Given the description of an element on the screen output the (x, y) to click on. 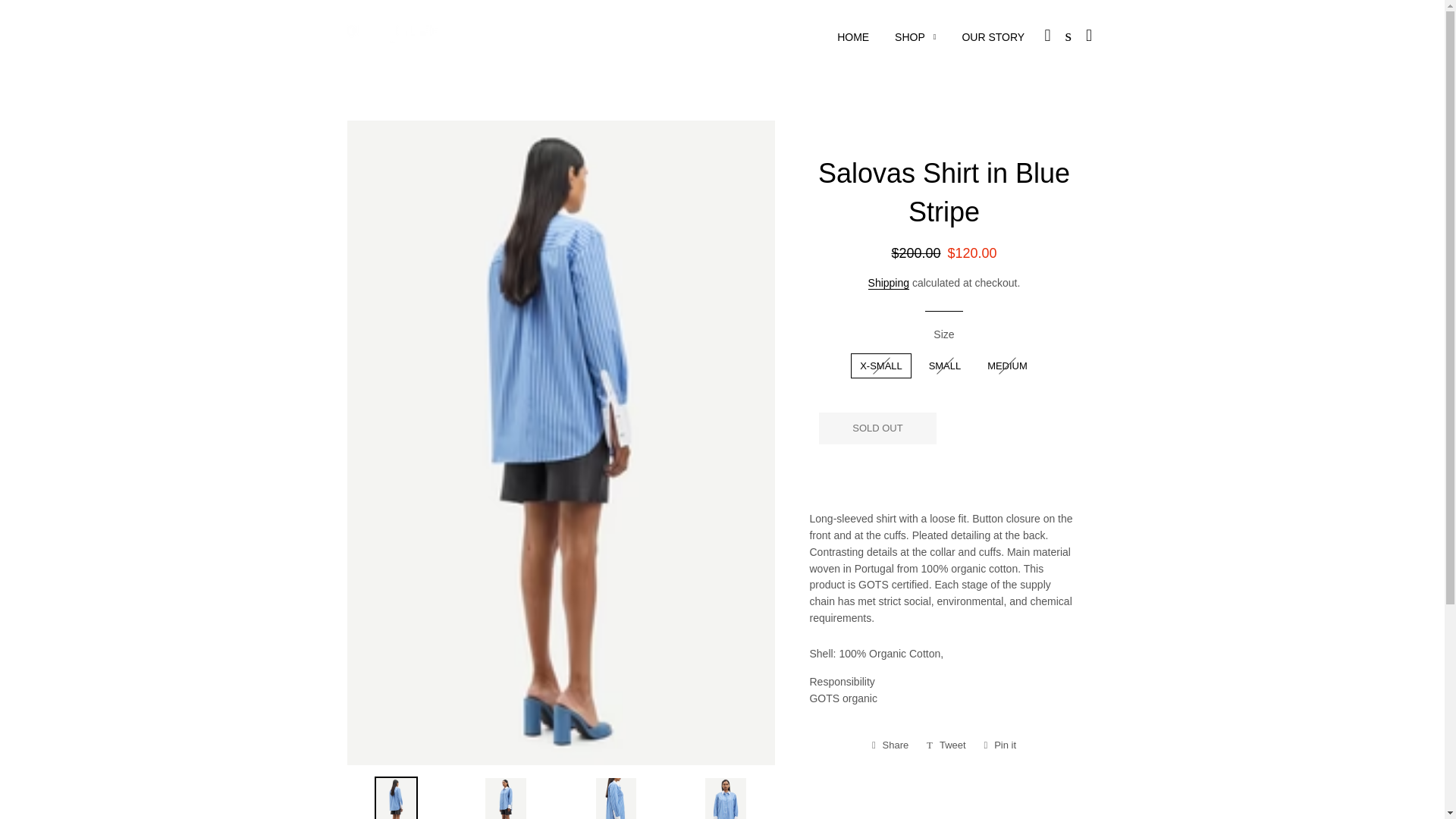
Tweet on Twitter (946, 744)
Pin on Pinterest (1000, 744)
Share on Facebook (889, 744)
